Given the description of an element on the screen output the (x, y) to click on. 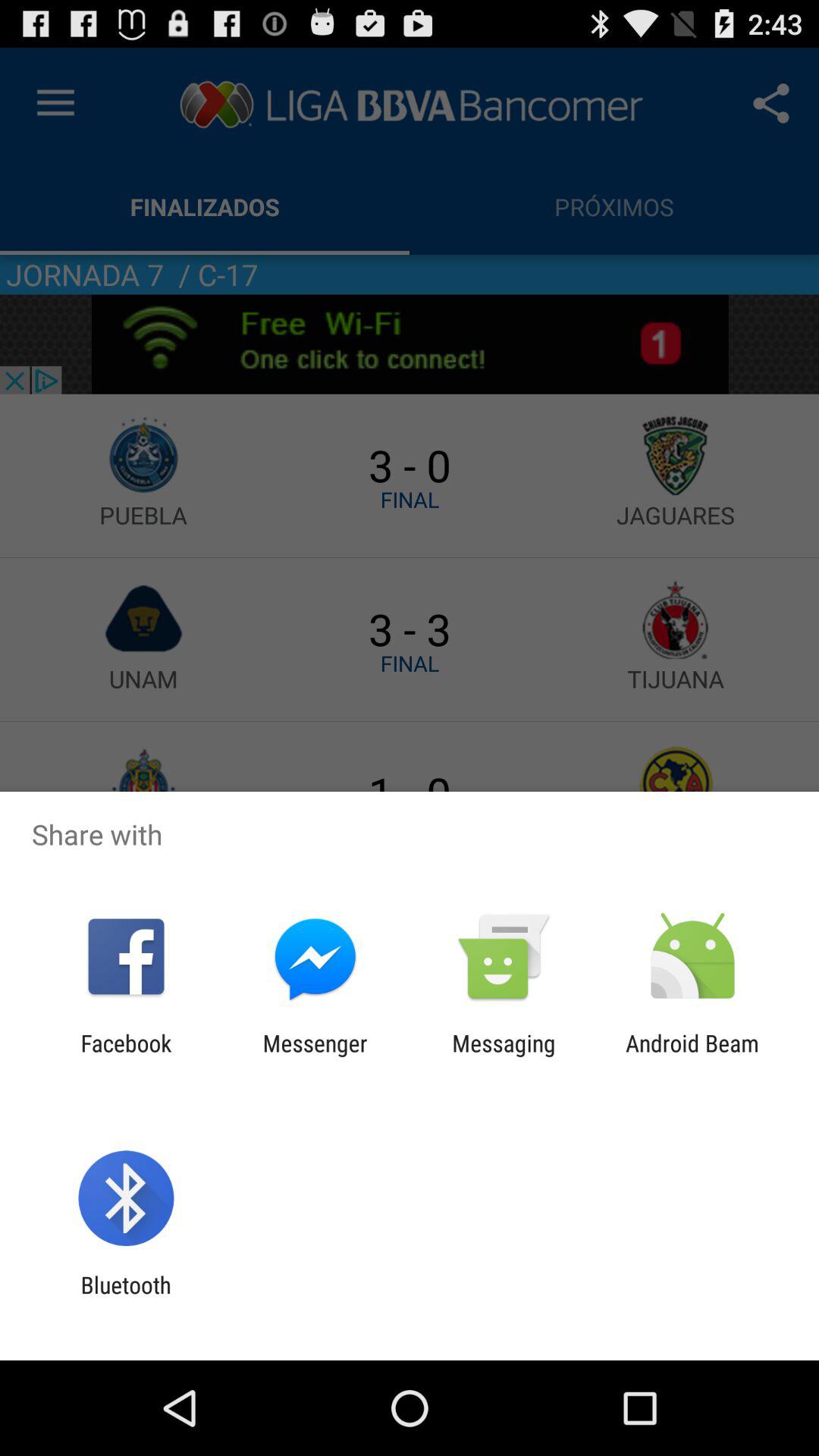
press the facebook item (125, 1056)
